Given the description of an element on the screen output the (x, y) to click on. 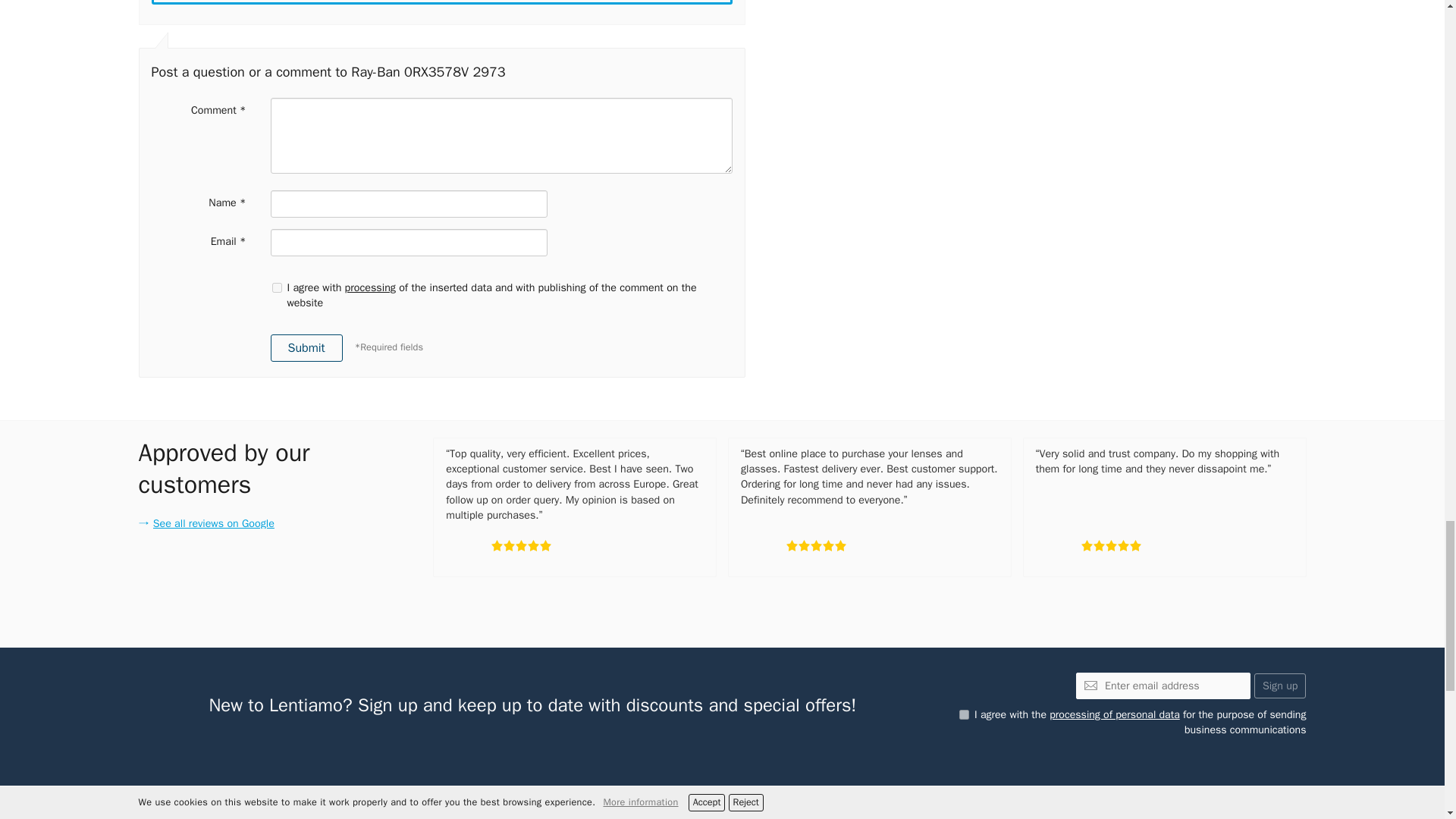
1 (275, 287)
1 (964, 714)
